Given the description of an element on the screen output the (x, y) to click on. 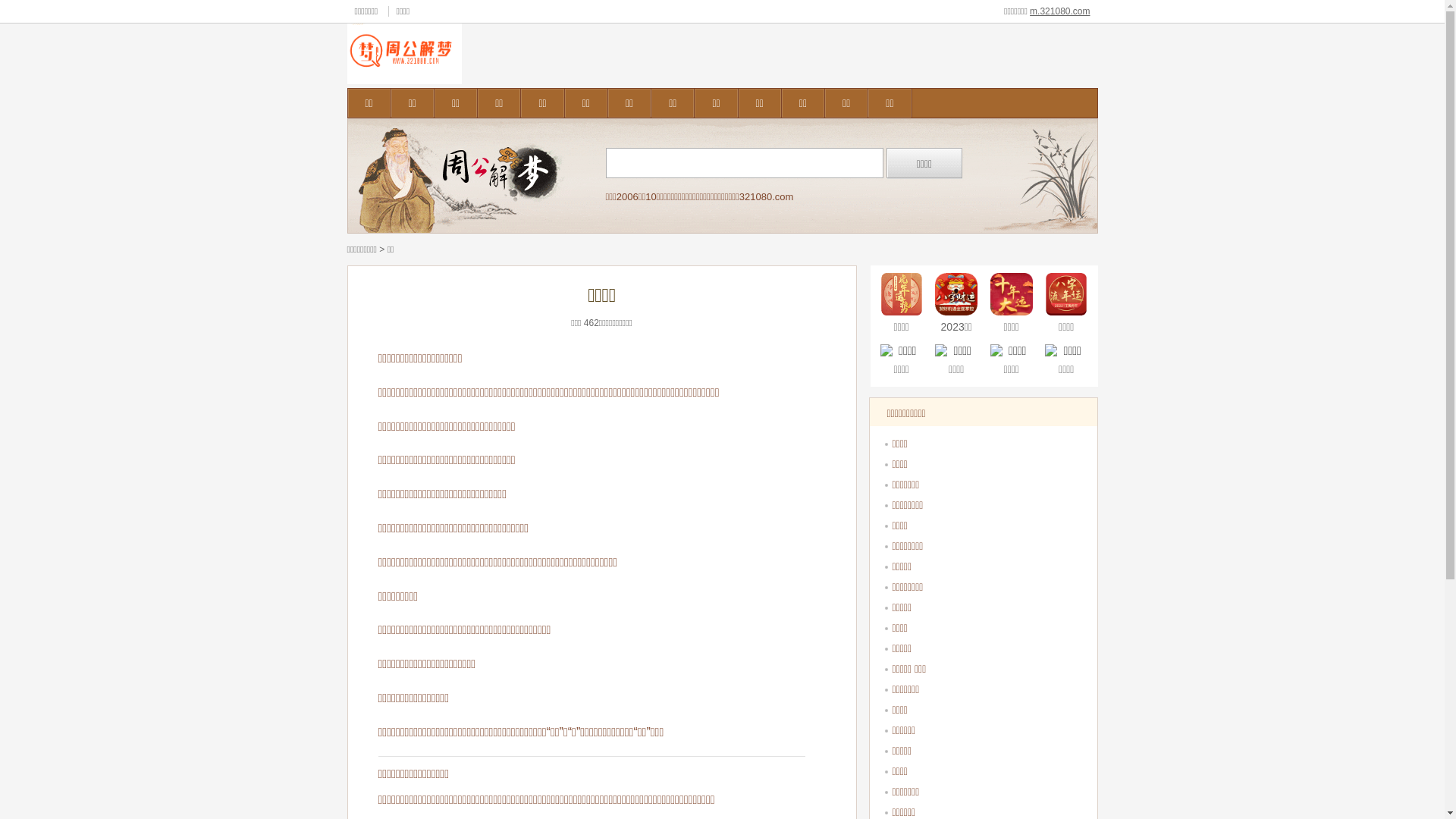
m.321080.com Element type: text (1059, 11)
